Given the description of an element on the screen output the (x, y) to click on. 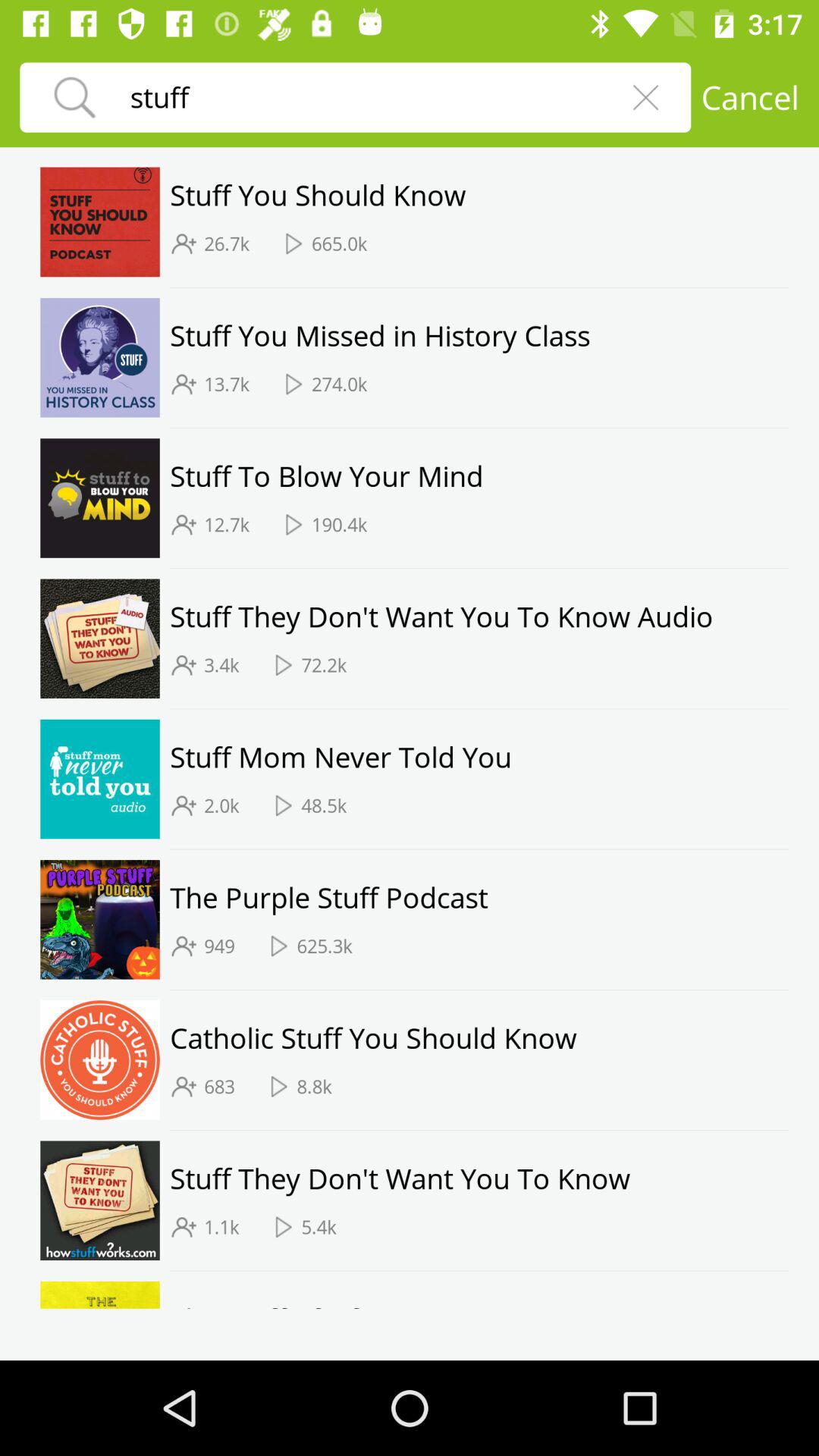
turn off the 72.2k (323, 664)
